Given the description of an element on the screen output the (x, y) to click on. 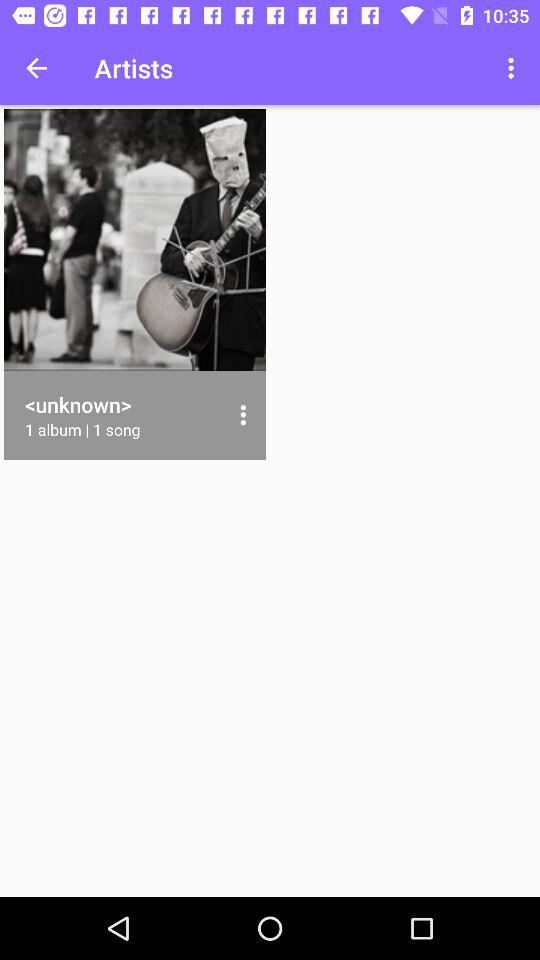
click item next to 1 album 1 icon (242, 415)
